Given the description of an element on the screen output the (x, y) to click on. 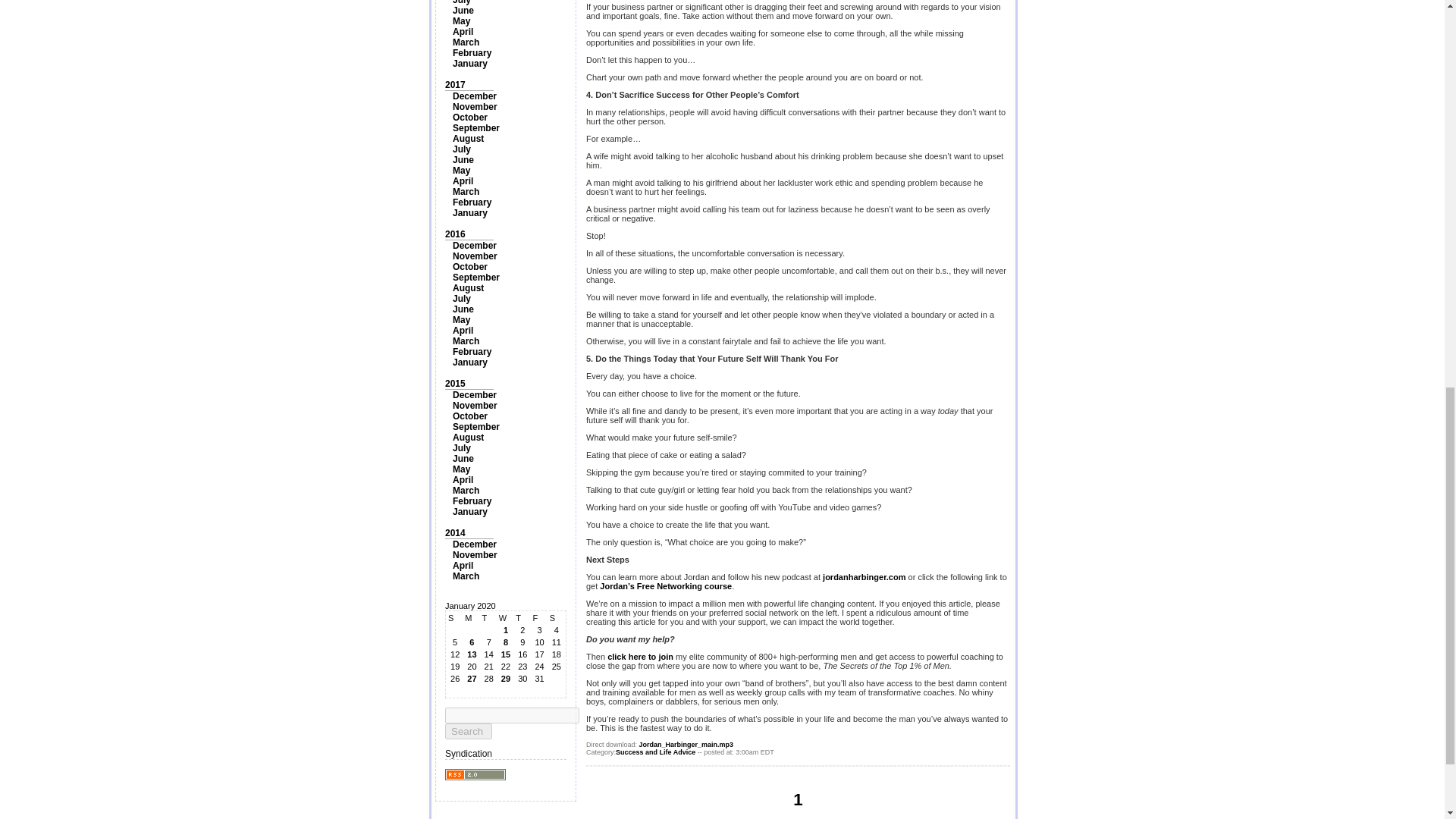
Monday (471, 617)
Search  (468, 731)
Tuesday (488, 617)
Sunday (454, 617)
Wednesday (505, 617)
Friday (539, 617)
Thursday (522, 617)
Saturday (556, 617)
